Given the description of an element on the screen output the (x, y) to click on. 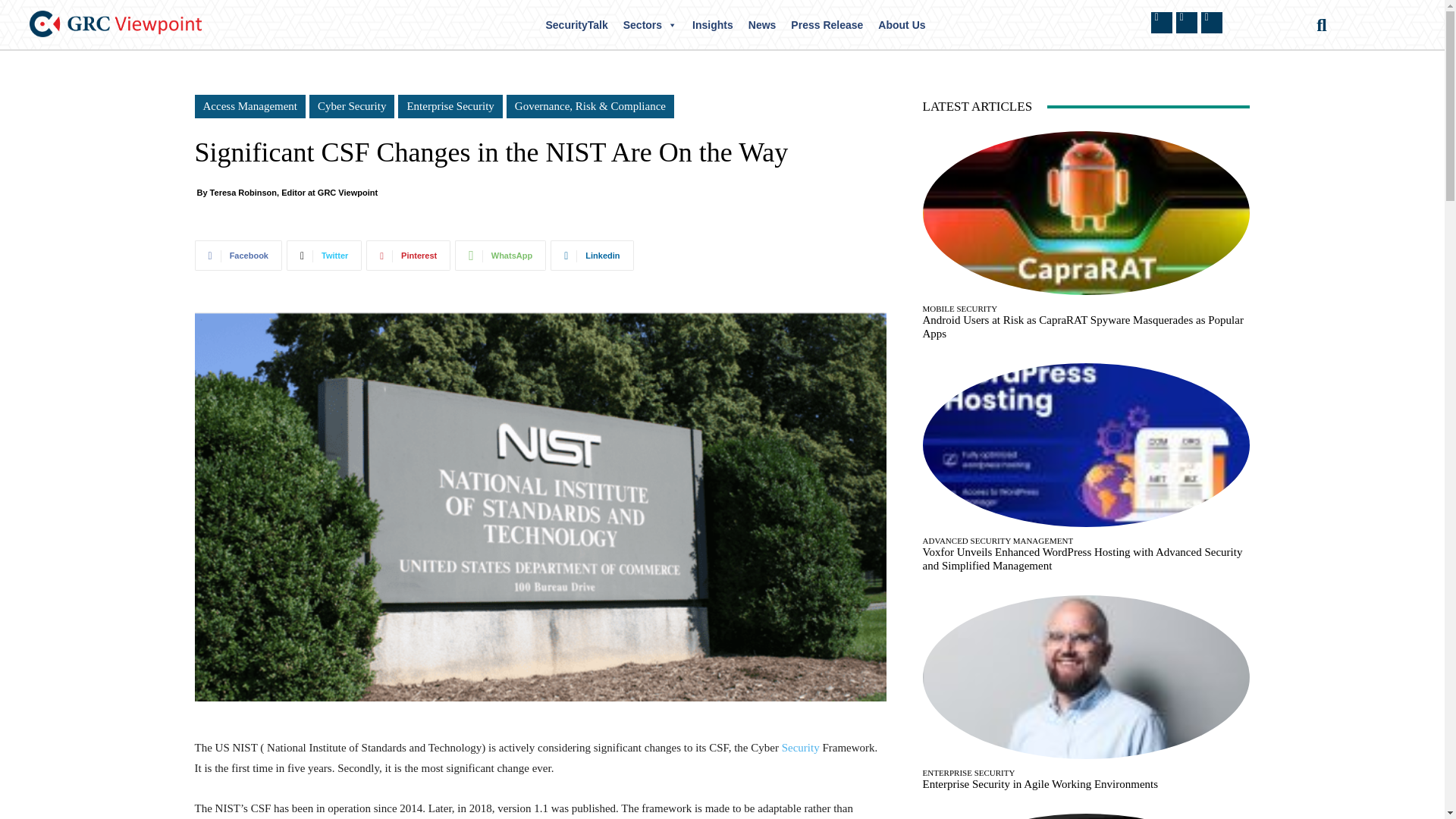
Pinterest (407, 255)
Sectors (649, 24)
Facebook (237, 255)
SecurityTalk (576, 24)
Linkedin (591, 255)
WhatsApp (500, 255)
Twitter (323, 255)
